Given the description of an element on the screen output the (x, y) to click on. 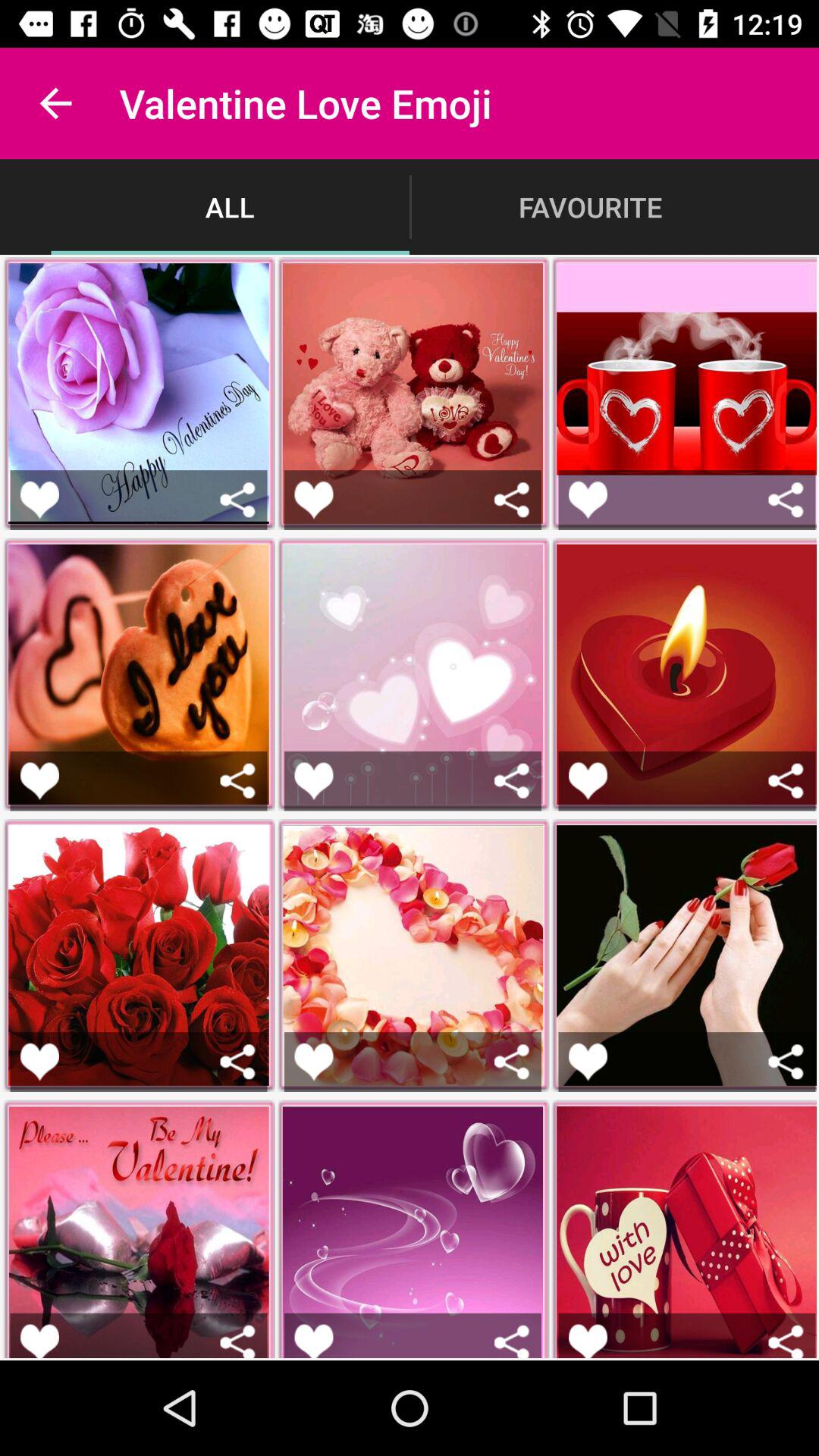
add to favorite (313, 780)
